Given the description of an element on the screen output the (x, y) to click on. 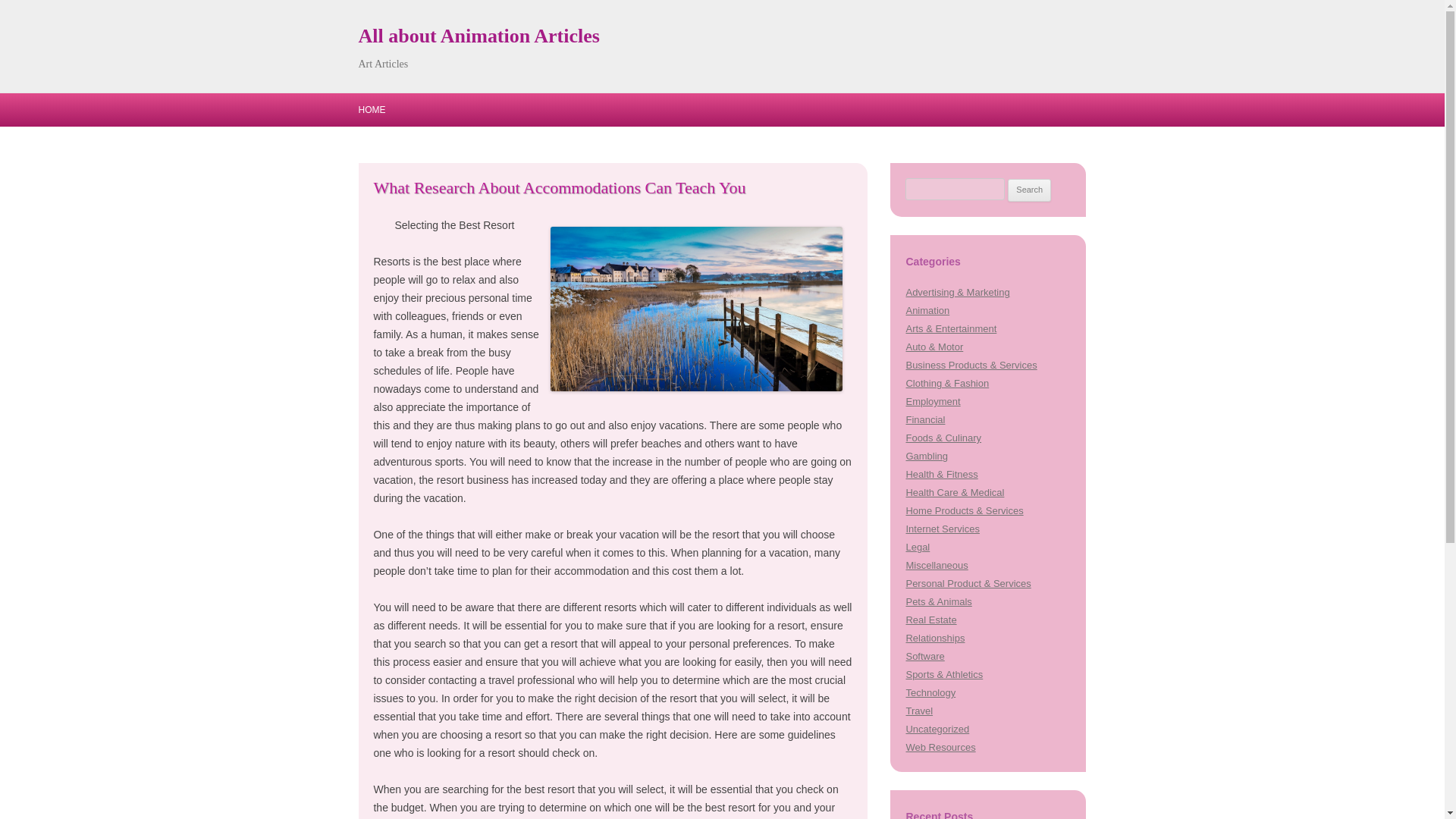
Relationships (934, 637)
Legal (917, 546)
Gambling (926, 455)
Real Estate (930, 619)
All about Animation Articles (478, 36)
Search (1029, 190)
Uncategorized (937, 728)
All about Animation Articles (478, 36)
Animation (927, 310)
Travel (919, 710)
Financial (924, 419)
Software (924, 655)
Web Resources (940, 747)
Employment (932, 401)
